Given the description of an element on the screen output the (x, y) to click on. 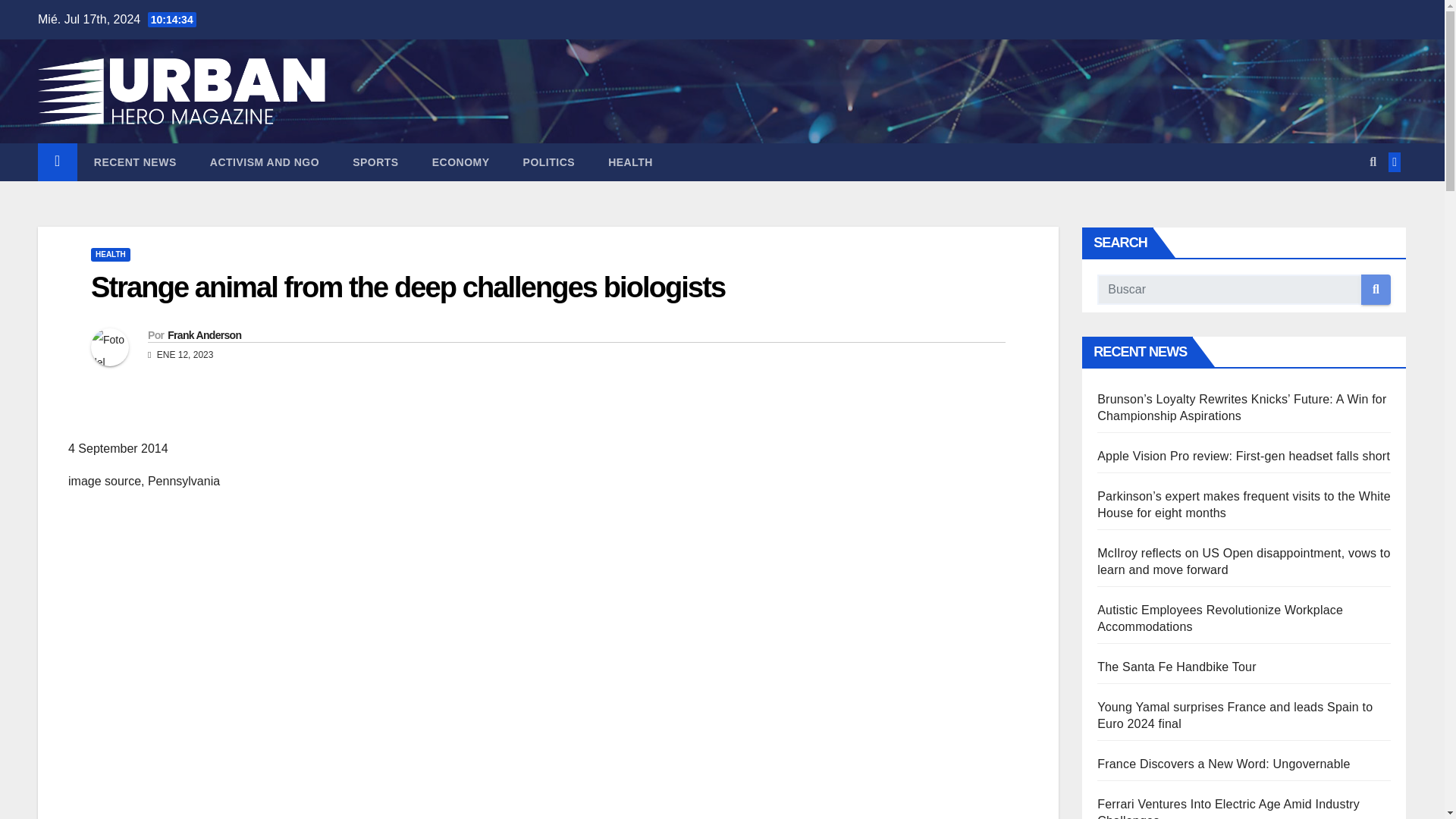
Health (630, 161)
ACTIVISM AND NGO (264, 161)
ECONOMY (460, 161)
POLITICS (549, 161)
SPORTS (375, 161)
Sports (375, 161)
Activism and NGO (264, 161)
RECENT NEWS (135, 161)
Politics (549, 161)
Strange animal from the deep challenges biologists (407, 287)
HEALTH (110, 254)
Recent news (135, 161)
HEALTH (630, 161)
Economy (460, 161)
Frank Anderson (204, 335)
